Given the description of an element on the screen output the (x, y) to click on. 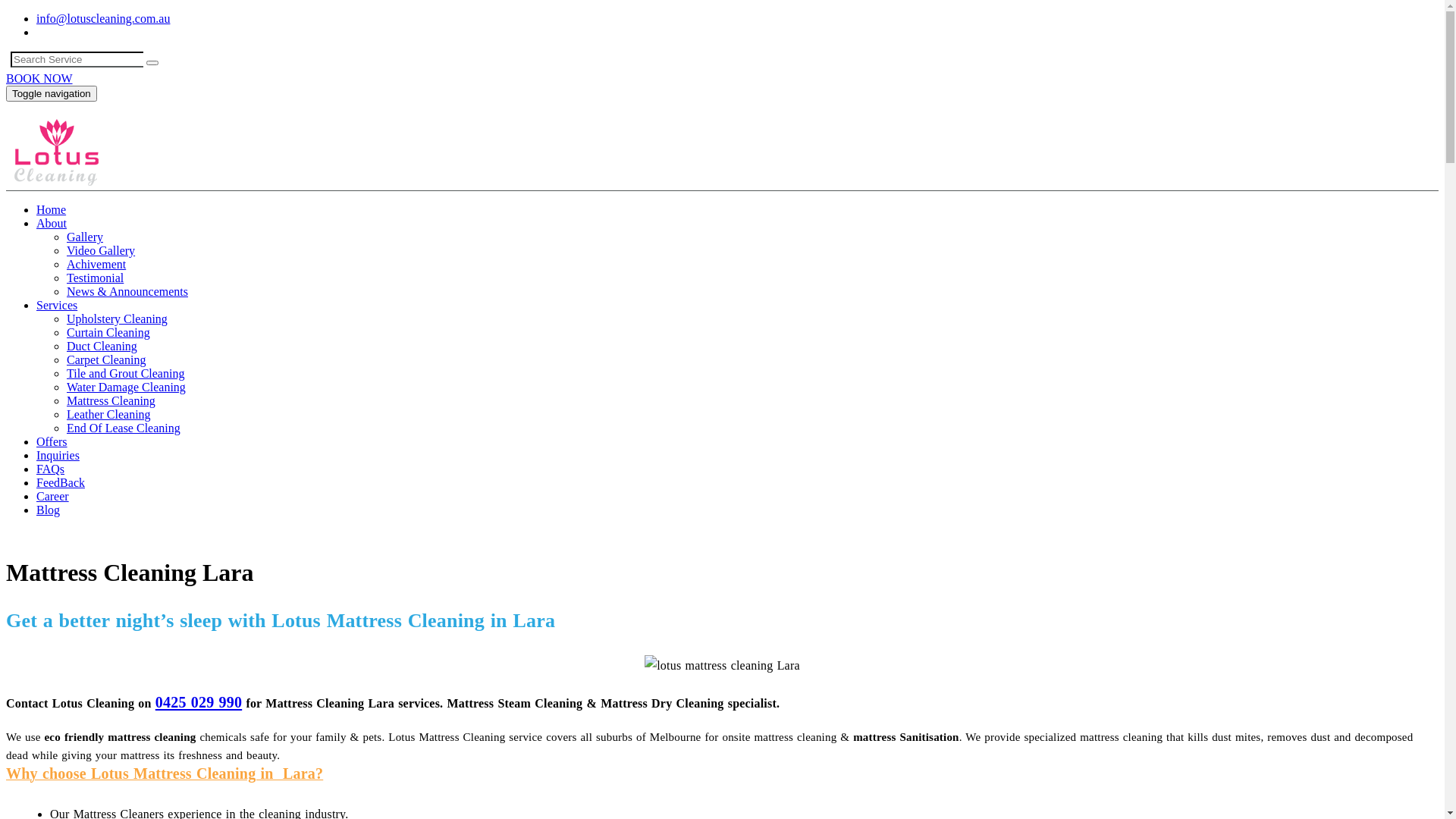
Water Damage Cleaning Element type: text (125, 386)
FeedBack Element type: text (60, 482)
Video Gallery Element type: text (100, 250)
Carpet Cleaning Element type: text (105, 359)
Services Element type: text (56, 304)
0425 029 990 Element type: text (39, 535)
Career Element type: text (52, 495)
Achivement Element type: text (95, 263)
Duct Cleaning Element type: text (101, 345)
Blog Element type: text (47, 509)
0425 029 990 Element type: text (69, 31)
0425 029 990 Element type: text (198, 701)
End Of Lease Cleaning Element type: text (123, 427)
Leather Cleaning Element type: text (108, 413)
FAQs Element type: text (50, 468)
Curtain Cleaning Element type: text (108, 332)
BOOK NOW Element type: text (39, 78)
Testimonial Element type: text (94, 277)
Upholstery Cleaning Element type: text (116, 318)
Offers Element type: text (51, 441)
Inquiries Element type: text (57, 454)
Toggle navigation Element type: text (51, 93)
Tile and Grout Cleaning Element type: text (125, 373)
info@lotuscleaning.com.au Element type: text (102, 18)
Home Element type: text (50, 209)
Mattress Cleaning Element type: text (110, 400)
Gallery Element type: text (84, 236)
About Element type: text (51, 222)
News & Announcements Element type: text (127, 291)
